Given the description of an element on the screen output the (x, y) to click on. 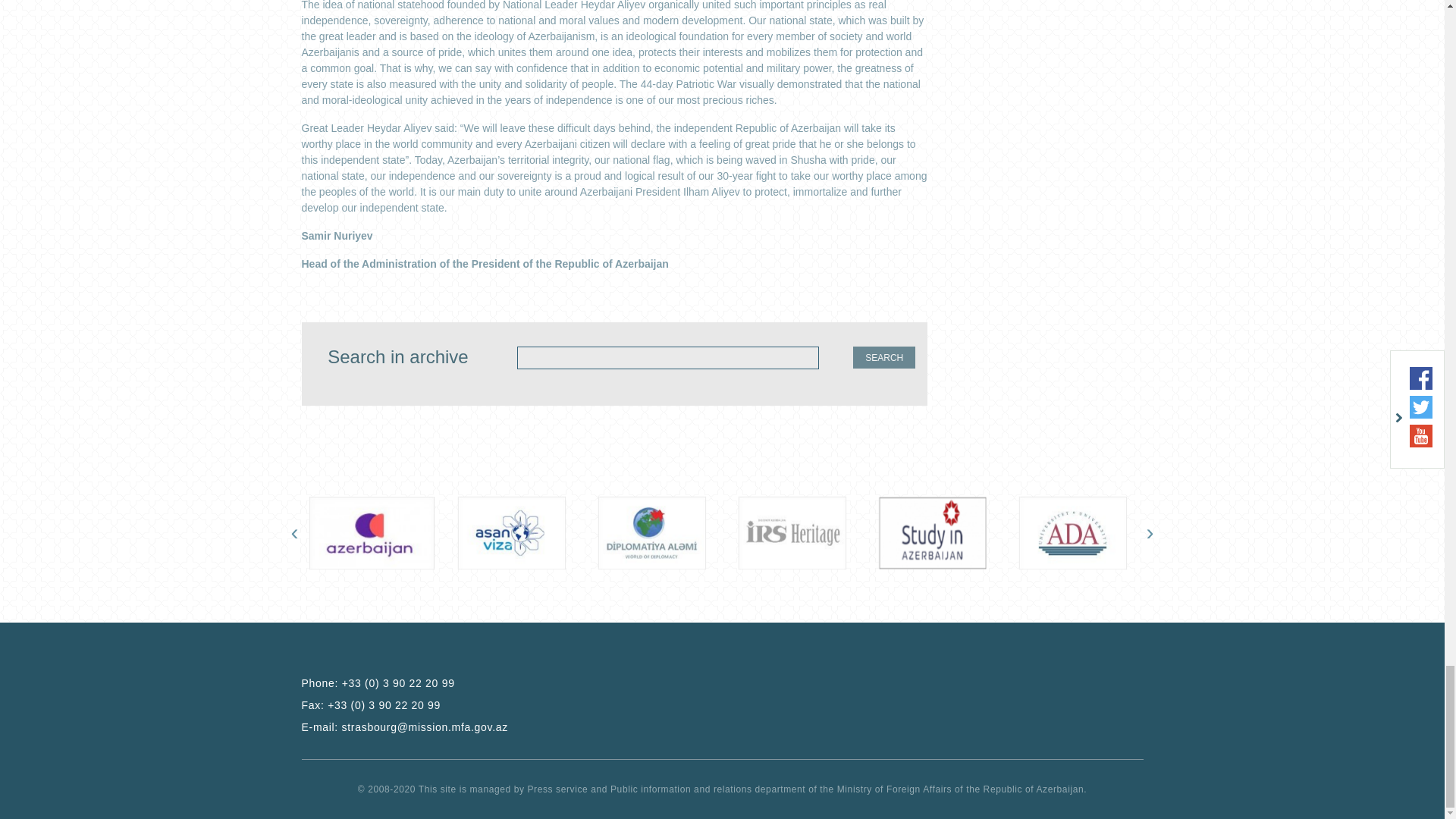
SEARCH (884, 357)
